Given the description of an element on the screen output the (x, y) to click on. 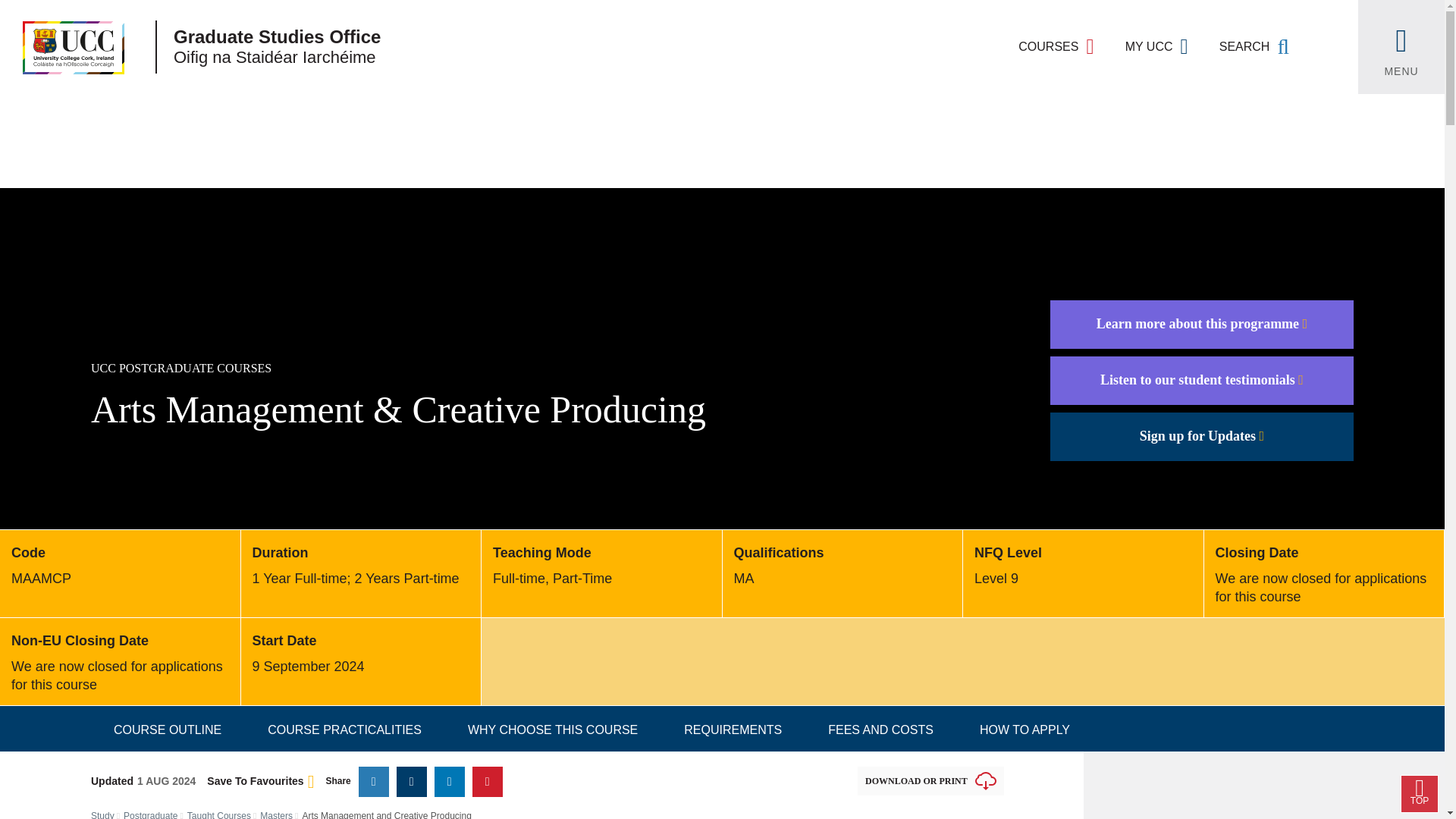
Back to top (1419, 793)
SEARCH (1254, 47)
UCC University College Cork (61, 47)
Facebook (411, 781)
Linkedin (448, 781)
COURSES (1055, 47)
Twitter (373, 781)
Email (486, 781)
